Given the description of an element on the screen output the (x, y) to click on. 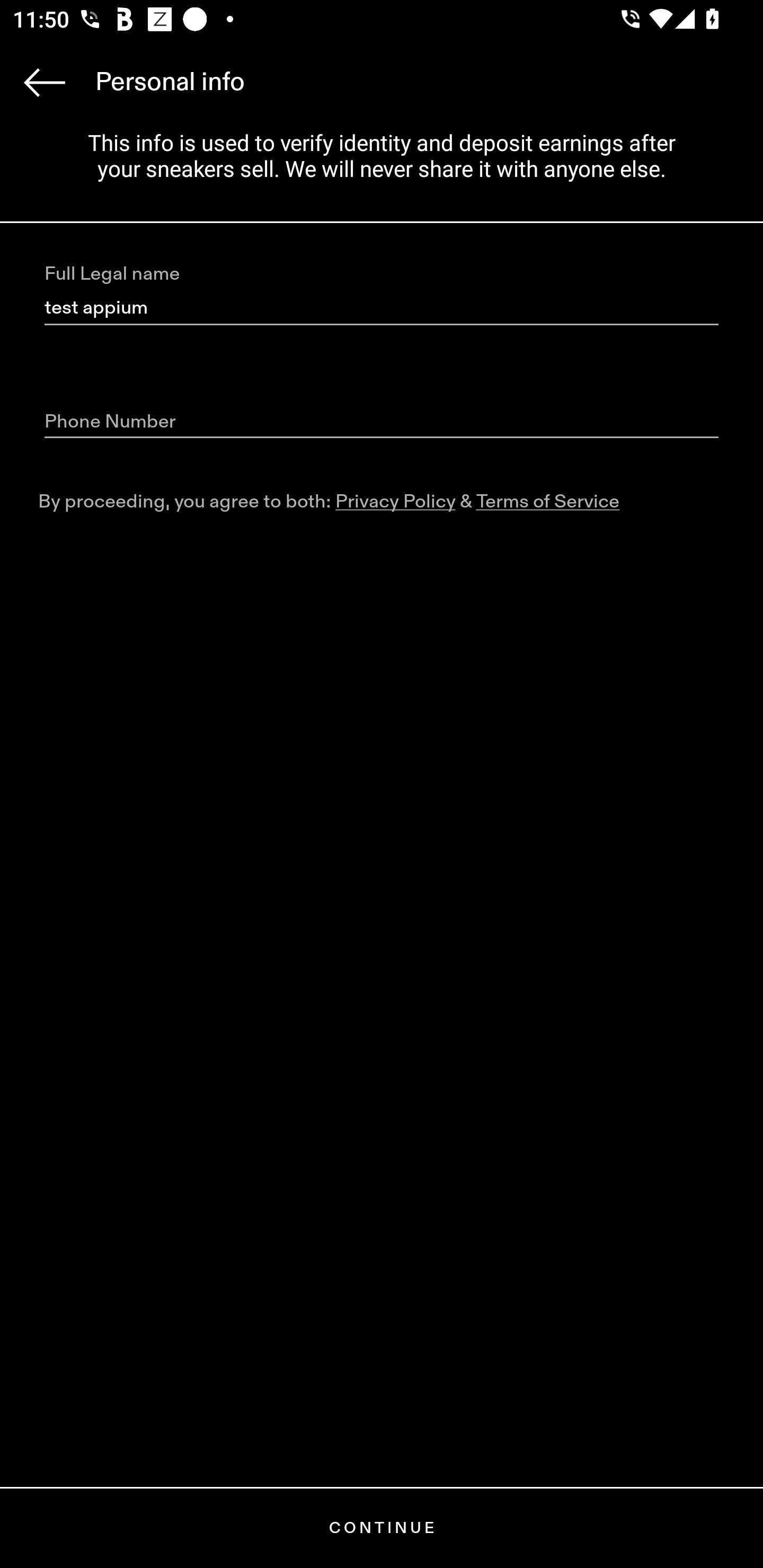
Navigate up (44, 82)
test appium (381, 308)
Phone Number (381, 422)
CONTINUE (381, 1528)
